Given the description of an element on the screen output the (x, y) to click on. 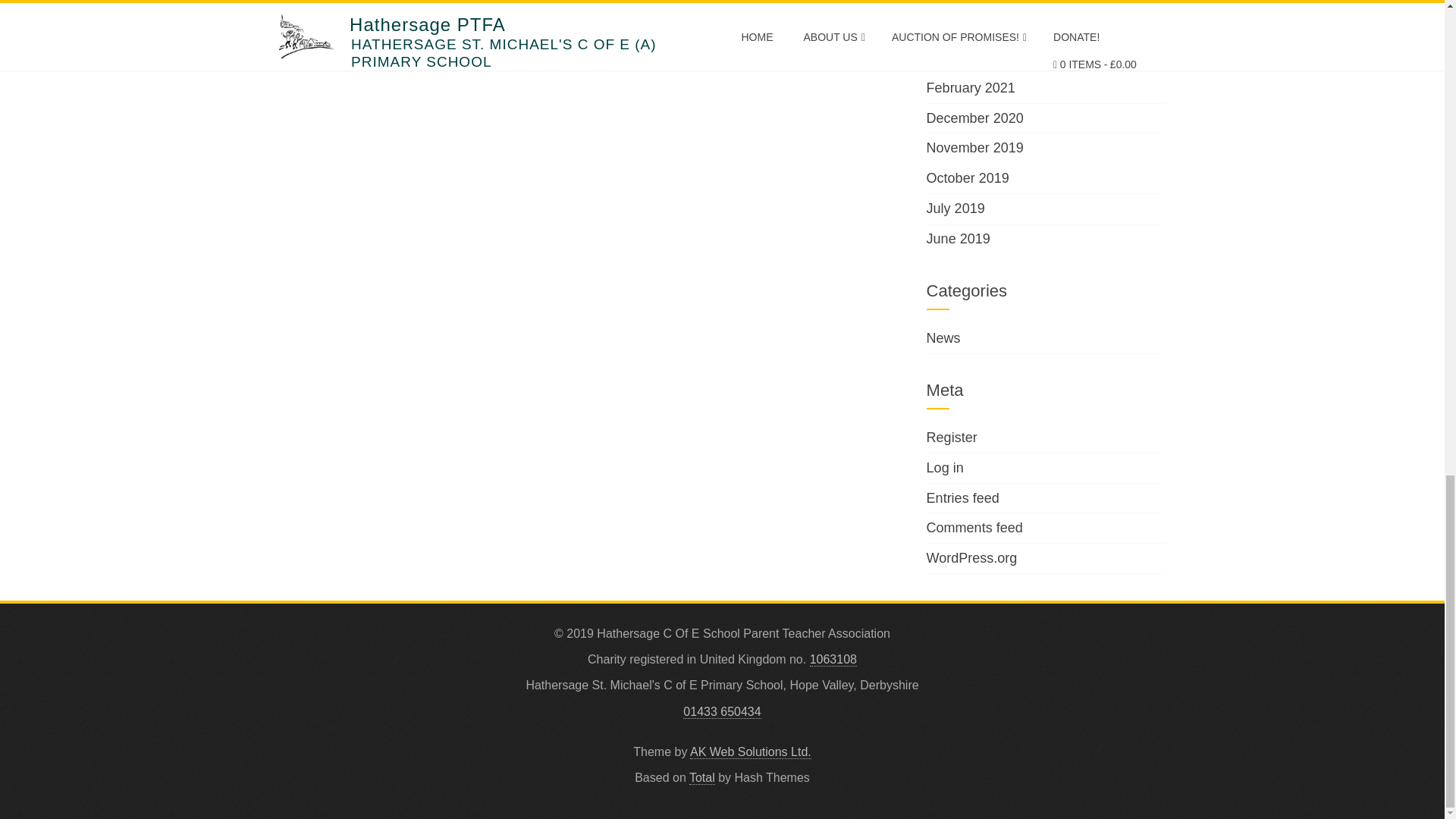
June 2019 (958, 238)
July 2019 (955, 208)
1063108 (833, 659)
December 2020 (974, 118)
October 2019 (967, 177)
AK Web Solutions Ltd. (750, 752)
Total (701, 777)
February 2021 (970, 87)
Entries feed (962, 498)
Register (951, 437)
WordPress.org (971, 557)
01433 650434 (721, 712)
Comments feed (974, 527)
November 2019 (974, 147)
Log in (944, 467)
